Given the description of an element on the screen output the (x, y) to click on. 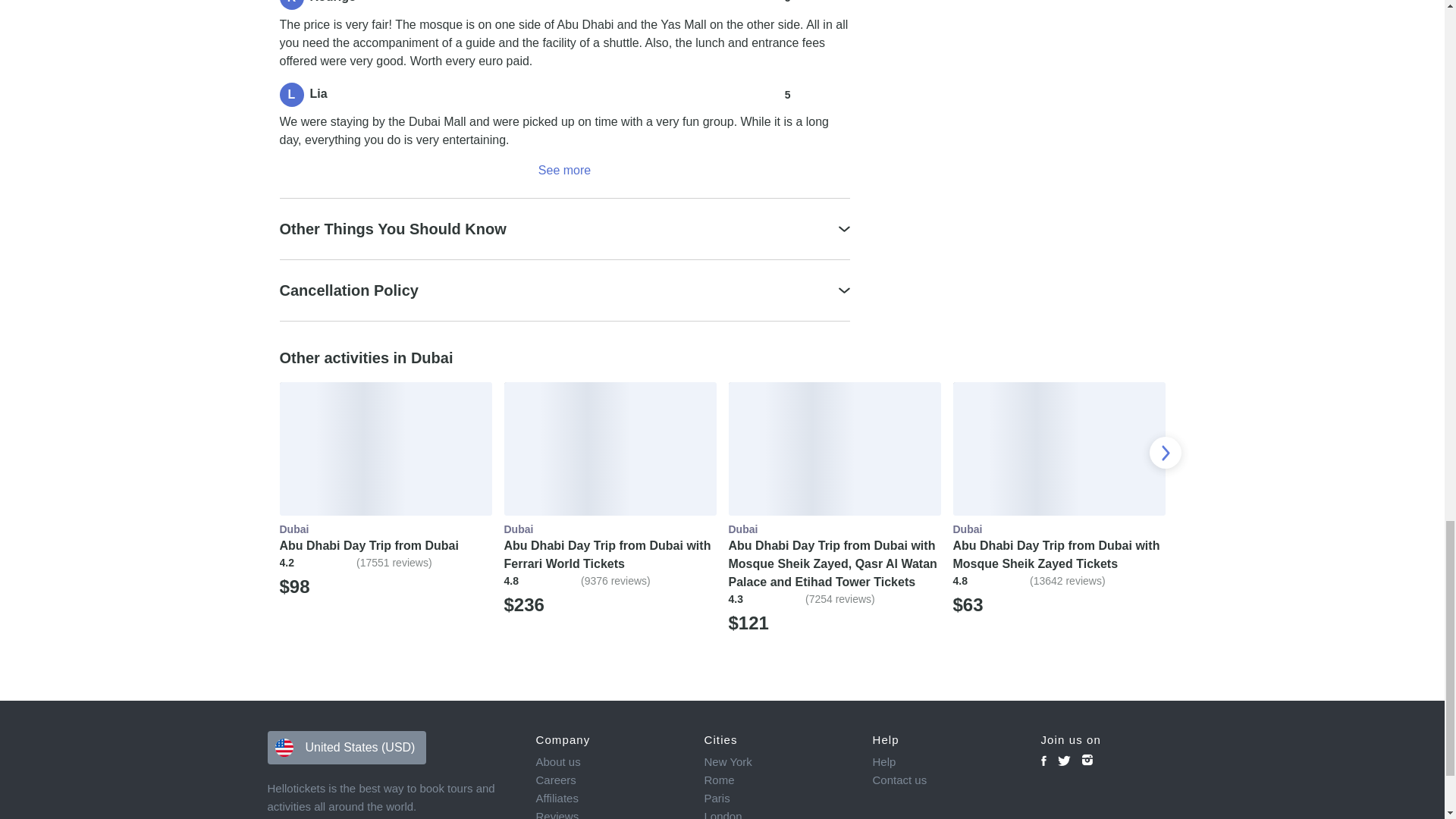
Reviews (608, 813)
Careers (608, 780)
Paris (776, 798)
London (776, 813)
Rome (776, 780)
New York (776, 761)
About us (608, 761)
Affiliates (608, 798)
See more (563, 170)
